Given the description of an element on the screen output the (x, y) to click on. 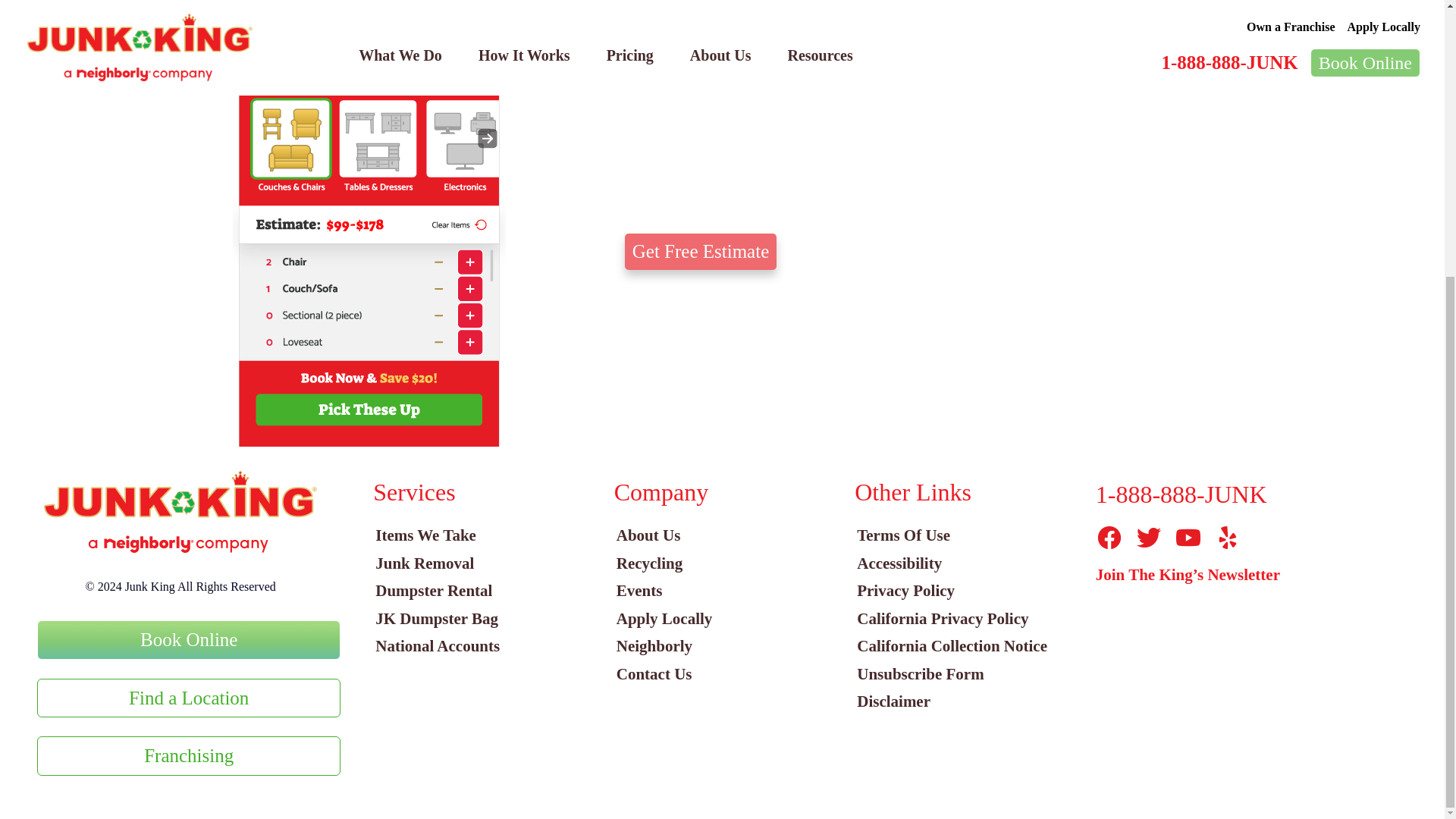
social icon (1109, 537)
social icon (1148, 537)
logo (180, 511)
